Given the description of an element on the screen output the (x, y) to click on. 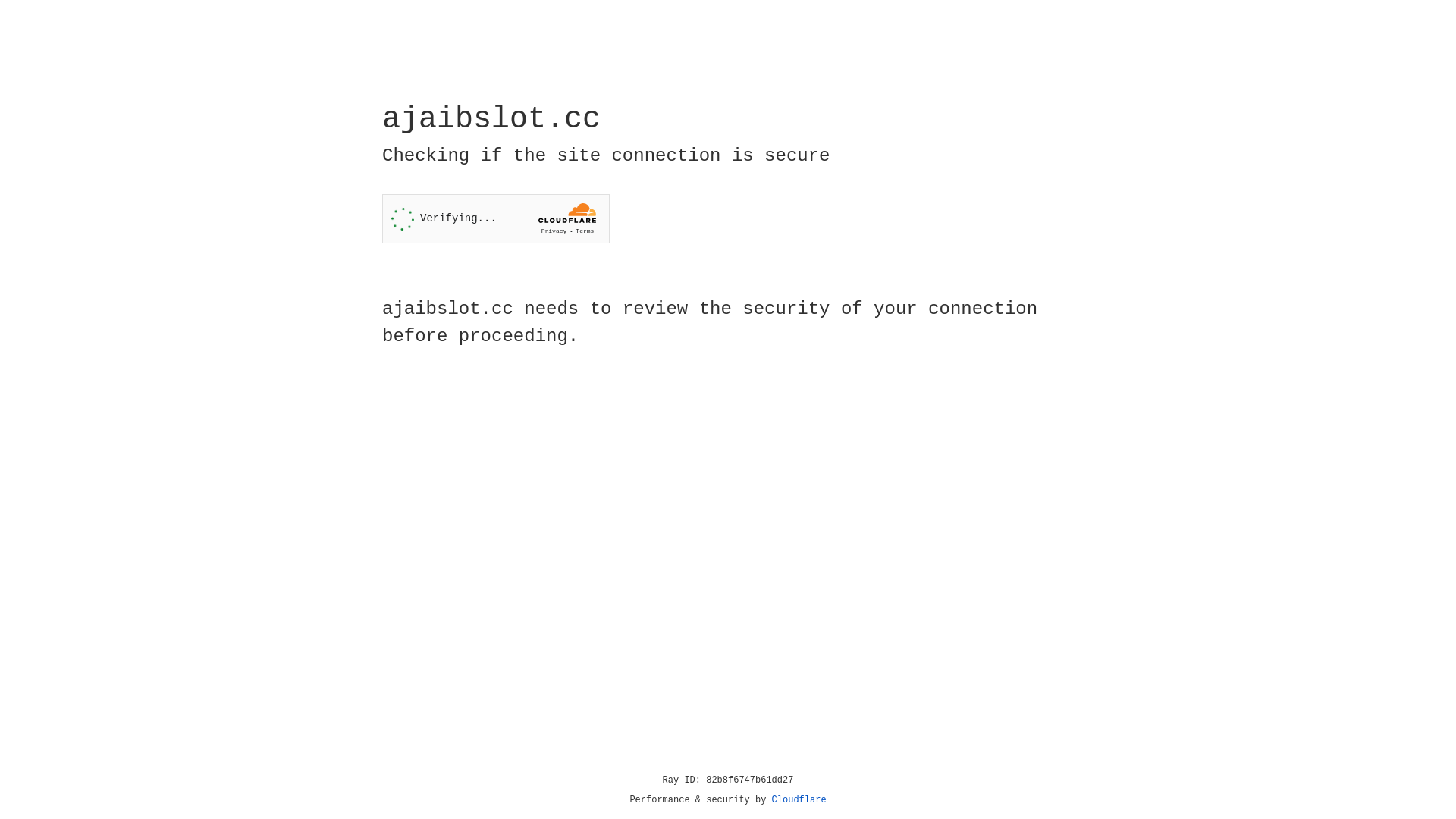
Widget containing a Cloudflare security challenge Element type: hover (495, 218)
Cloudflare Element type: text (798, 799)
